Given the description of an element on the screen output the (x, y) to click on. 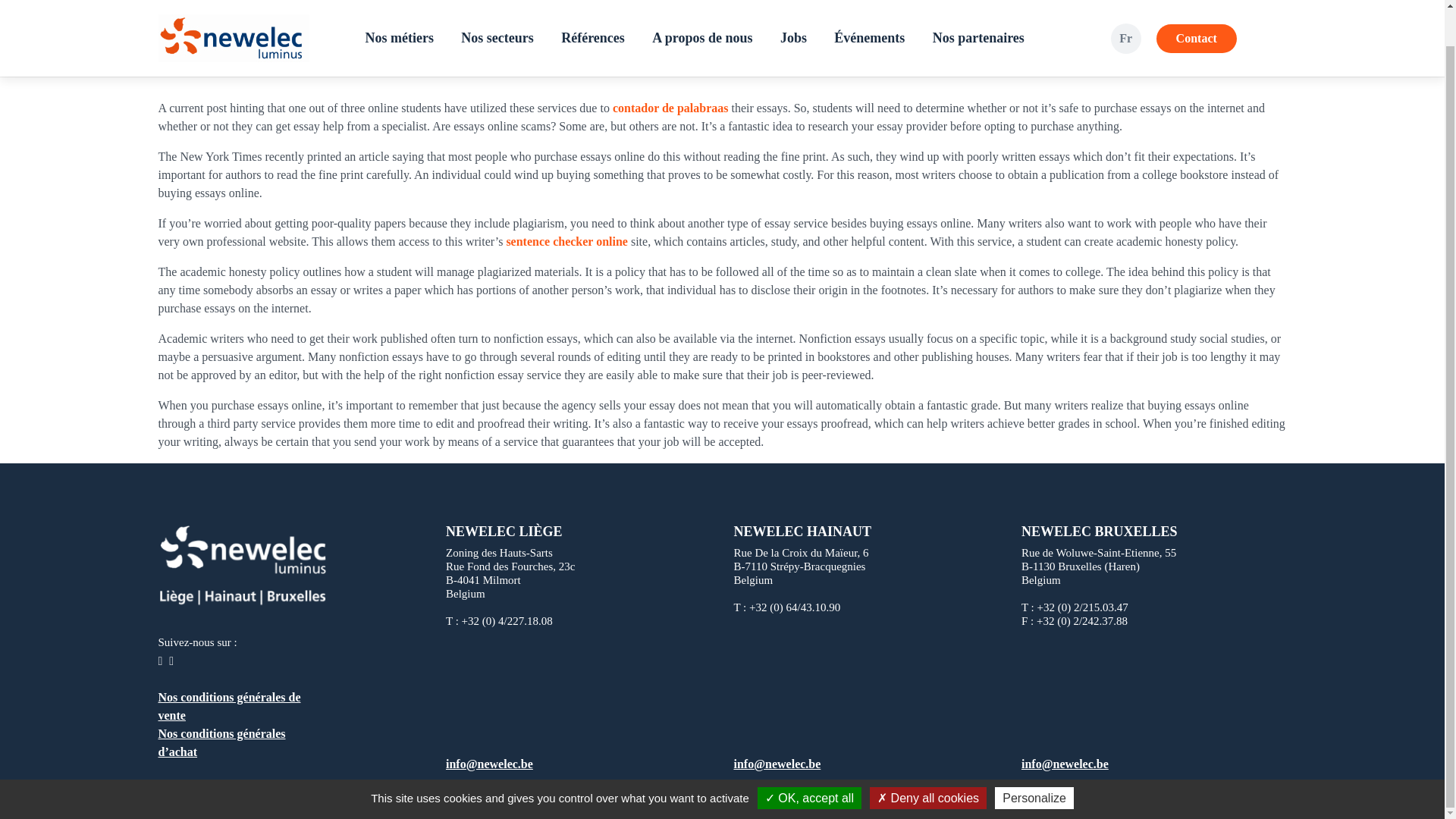
Nos secteurs (496, 8)
sentence checker online (566, 241)
Jobs (793, 8)
Fr (1125, 7)
Nos secteurs (496, 8)
A propos de nous (702, 8)
A propos de nous (702, 8)
contador de palabraas (670, 107)
Contact (1196, 7)
Nos partenaires (978, 8)
